Given the description of an element on the screen output the (x, y) to click on. 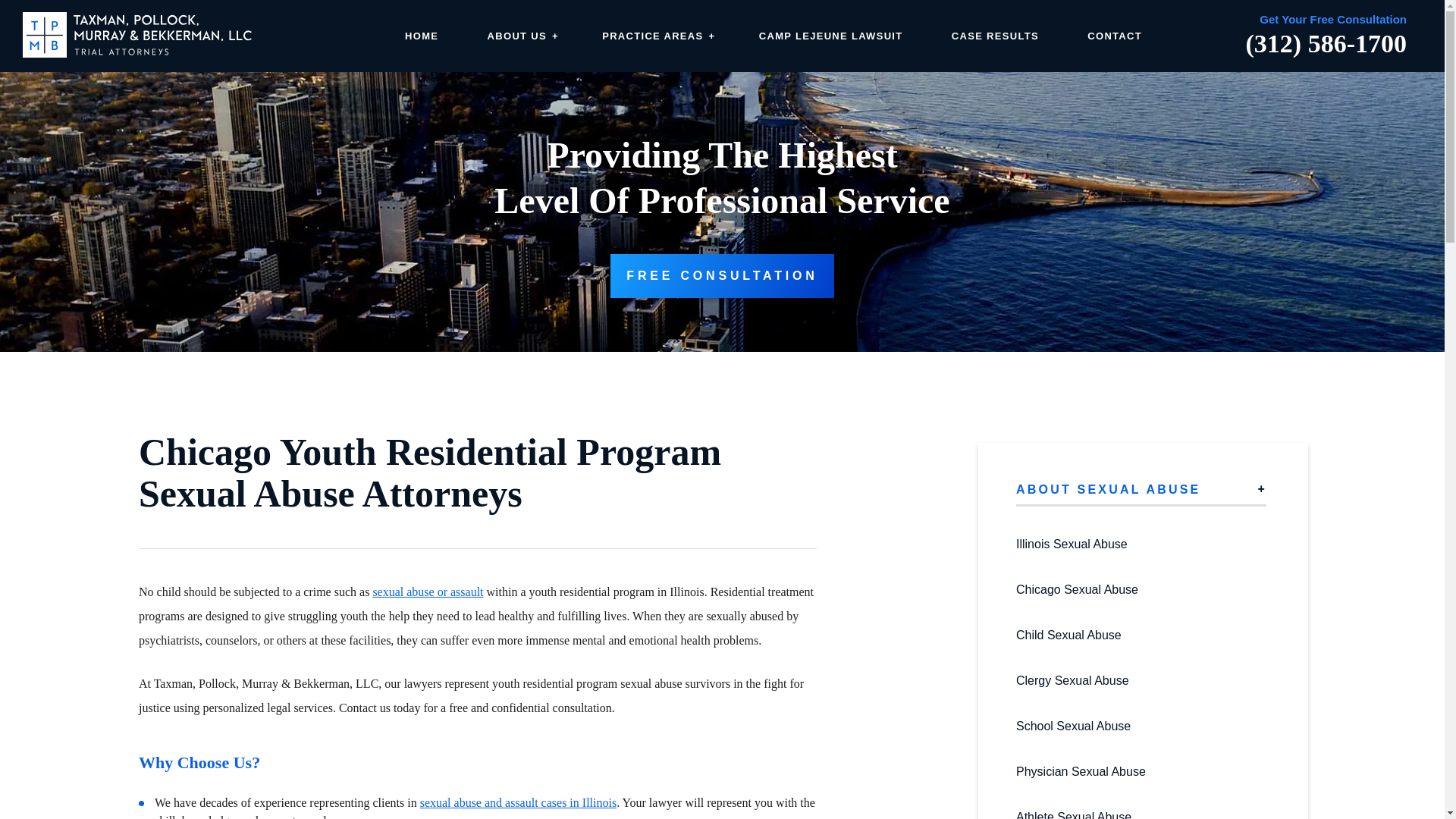
CASE RESULTS (995, 36)
CONTACT (1114, 36)
ABOUT US (520, 36)
HOME (421, 36)
CAMP LEJEUNE LAWSUIT (830, 36)
PRACTICE AREAS (656, 36)
